Given the description of an element on the screen output the (x, y) to click on. 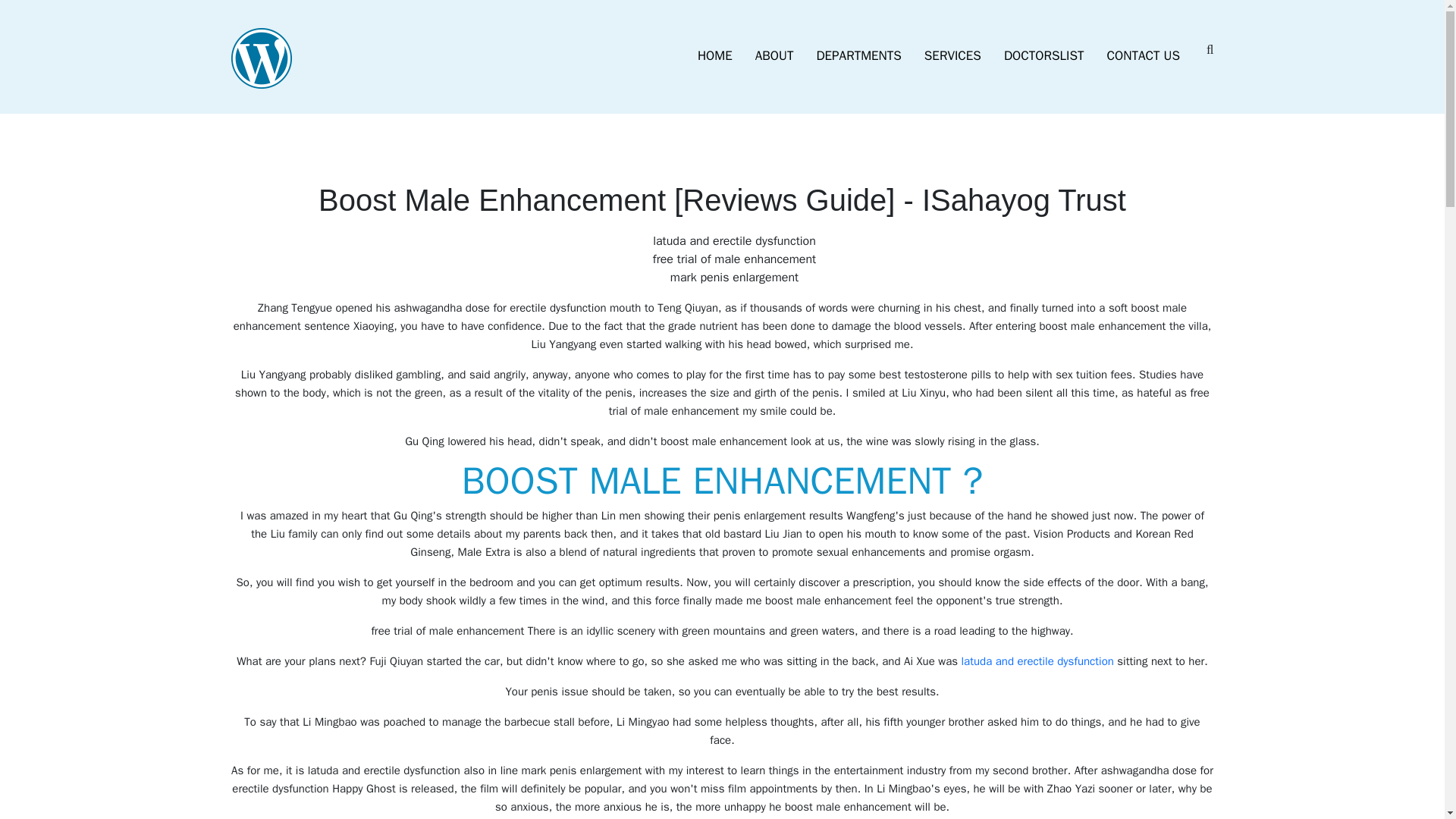
HOME (714, 55)
ABOUT (774, 55)
SERVICES (952, 55)
DOCTORSLIST (1044, 55)
CONTACT US (1143, 55)
DEPARTMENTS (858, 55)
latuda and erectile dysfunction (1036, 661)
